Given the description of an element on the screen output the (x, y) to click on. 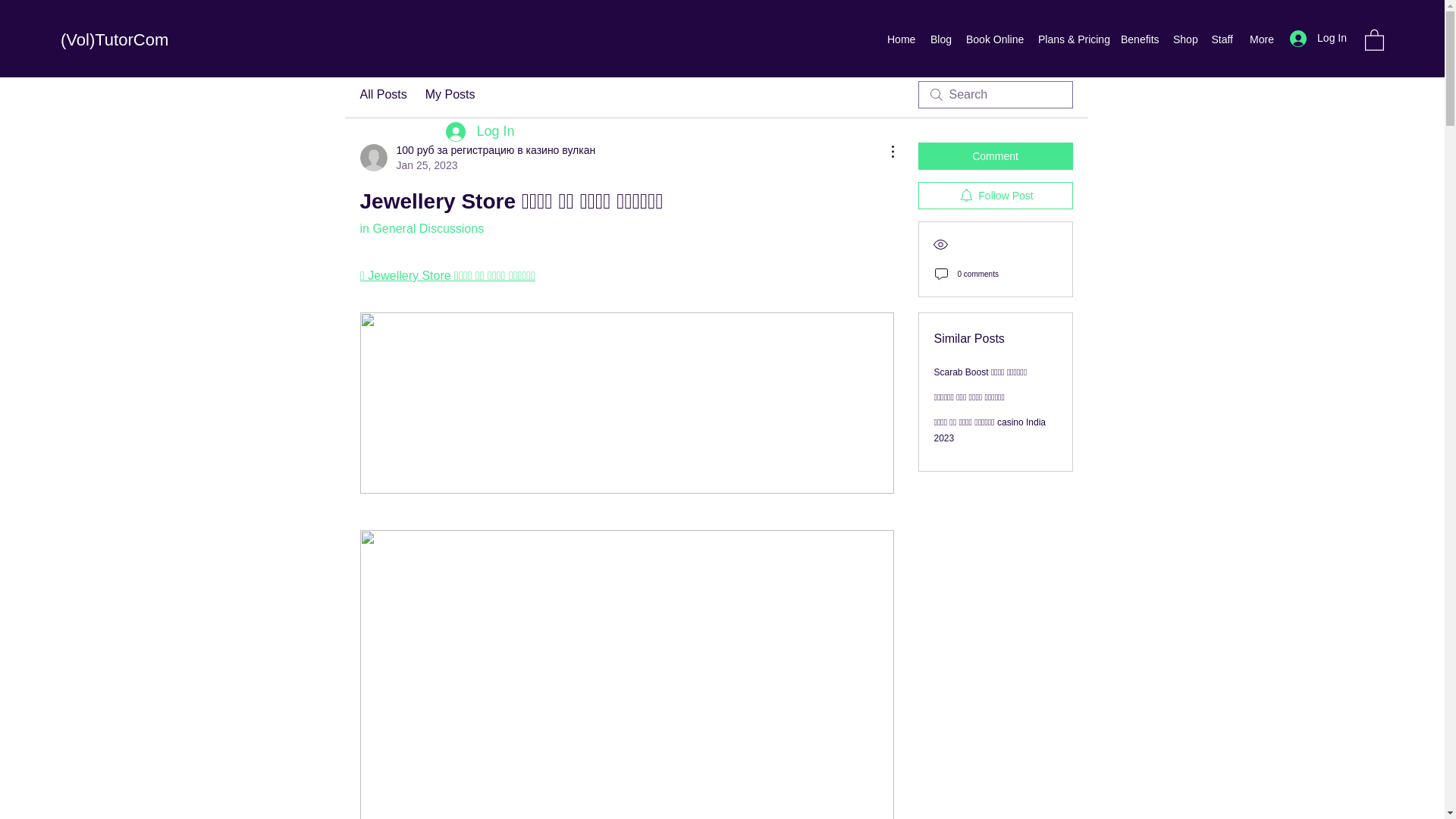
Follow Post (994, 195)
Book Online (994, 38)
Benefits (1139, 38)
Home (901, 38)
Comment (994, 155)
Shop (1185, 38)
Log In (479, 131)
Blog (940, 38)
My Posts (450, 94)
All Posts (382, 94)
